Given the description of an element on the screen output the (x, y) to click on. 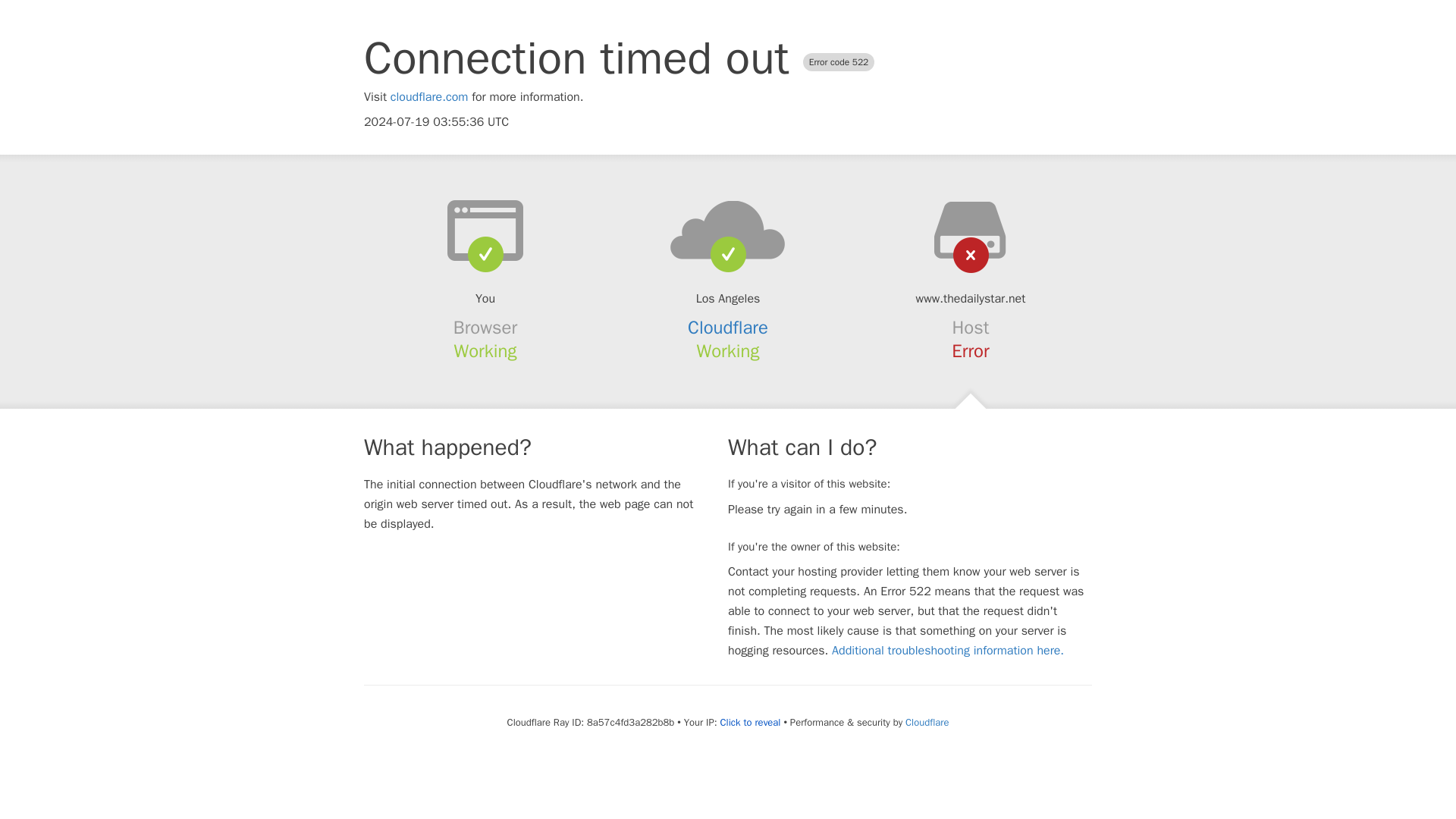
Additional troubleshooting information here. (947, 650)
cloudflare.com (429, 96)
Cloudflare (727, 327)
Click to reveal (750, 722)
Cloudflare (927, 721)
